Given the description of an element on the screen output the (x, y) to click on. 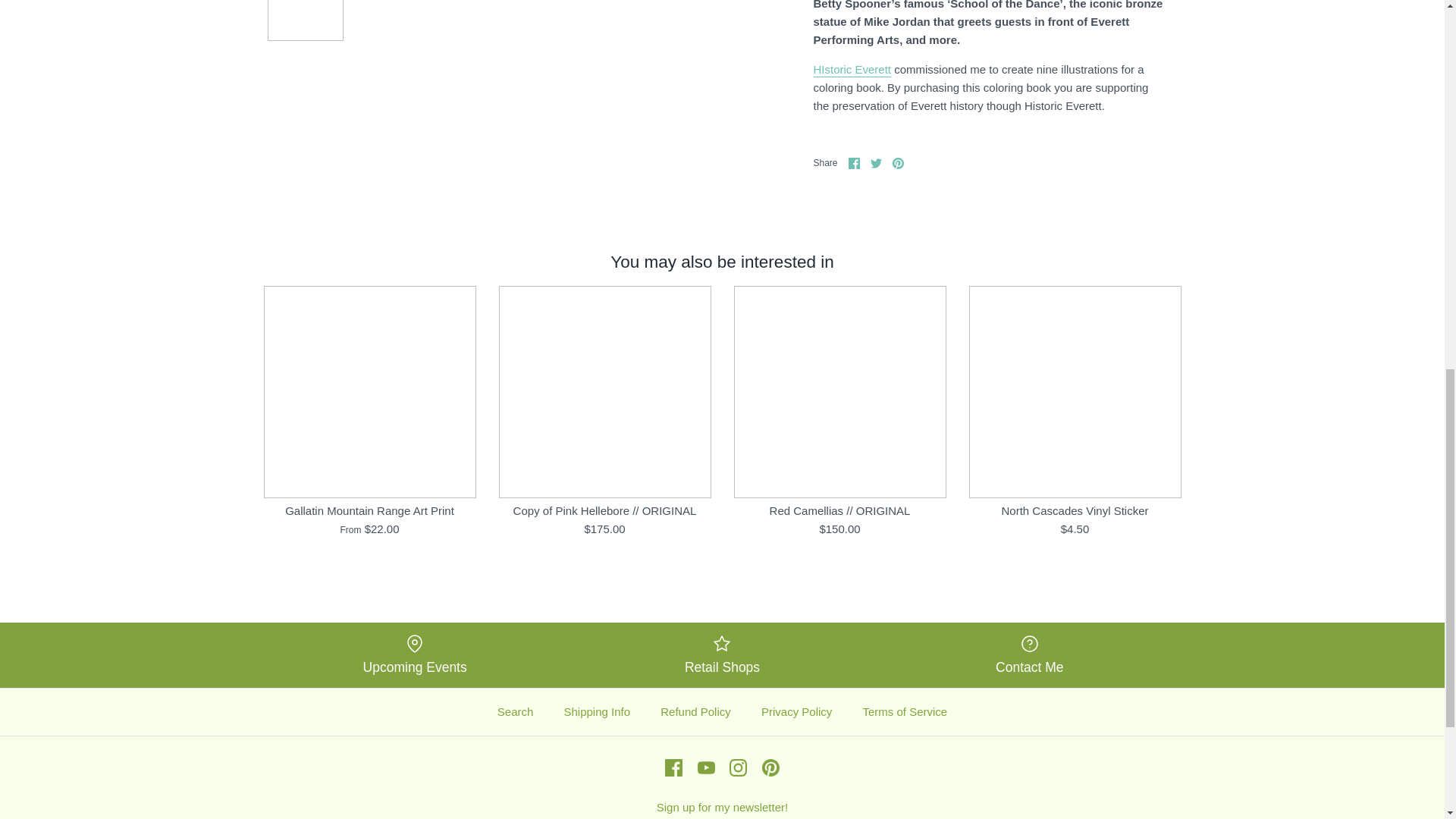
Facebook (673, 767)
Pinterest (769, 767)
Pinterest (769, 767)
Youtube (705, 767)
Youtube (705, 767)
Instagram (737, 767)
Instagram (737, 767)
Pinterest (898, 163)
Facebook (854, 163)
Facebook (673, 767)
Twitter (876, 163)
